Given the description of an element on the screen output the (x, y) to click on. 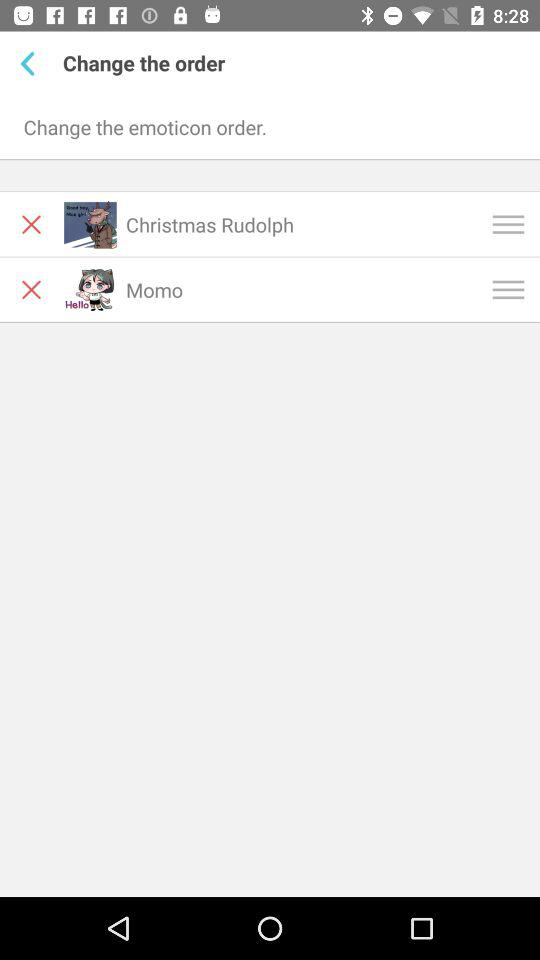
close out this item (31, 289)
